Given the description of an element on the screen output the (x, y) to click on. 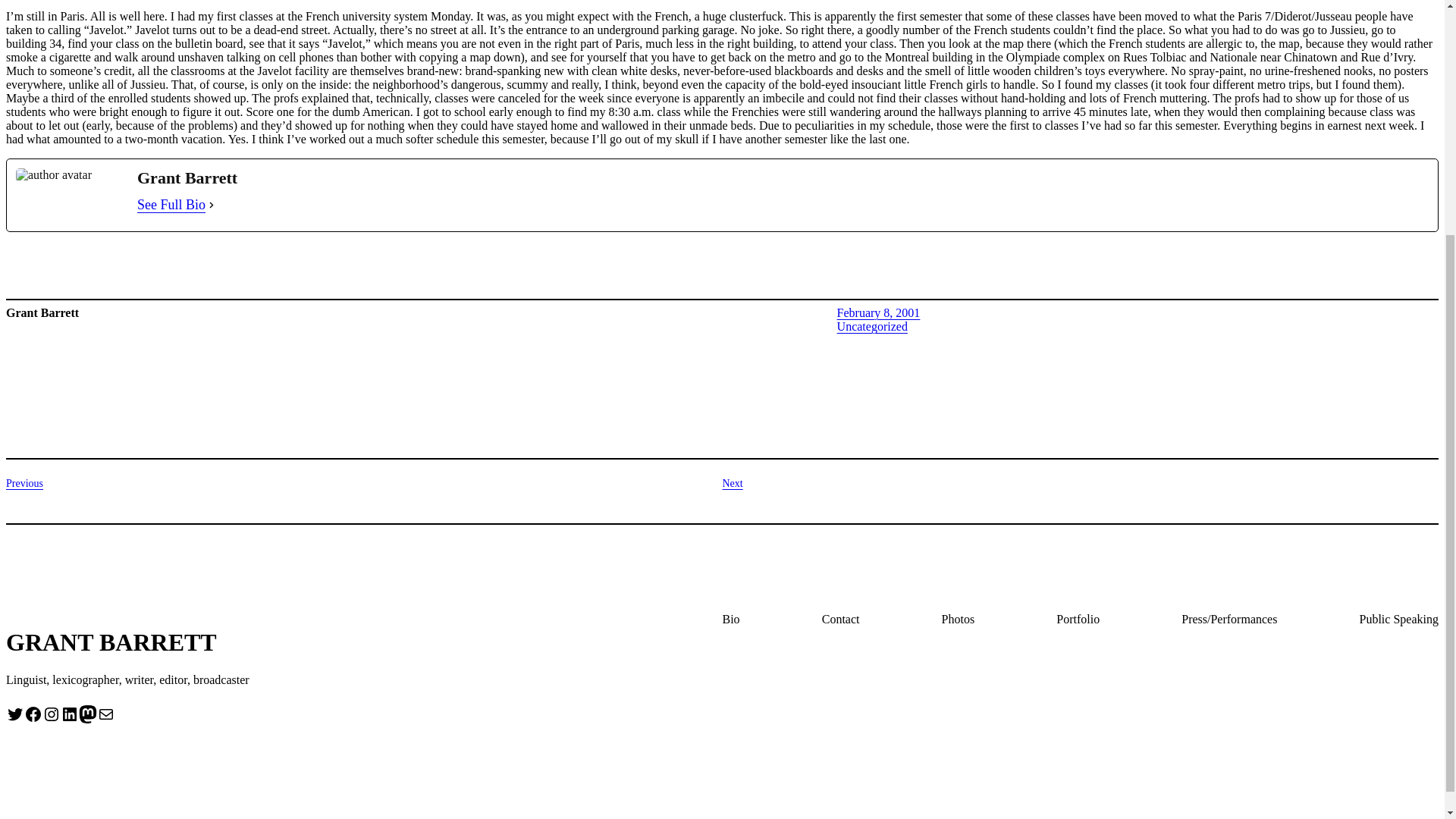
Portfolio (1078, 619)
LinkedIn (69, 714)
Facebook (33, 714)
Contact (841, 619)
Mail (106, 714)
GRANT BARRETT (110, 642)
Next (732, 482)
Instagram (51, 714)
Mastodon (87, 714)
Previous (24, 482)
